Given the description of an element on the screen output the (x, y) to click on. 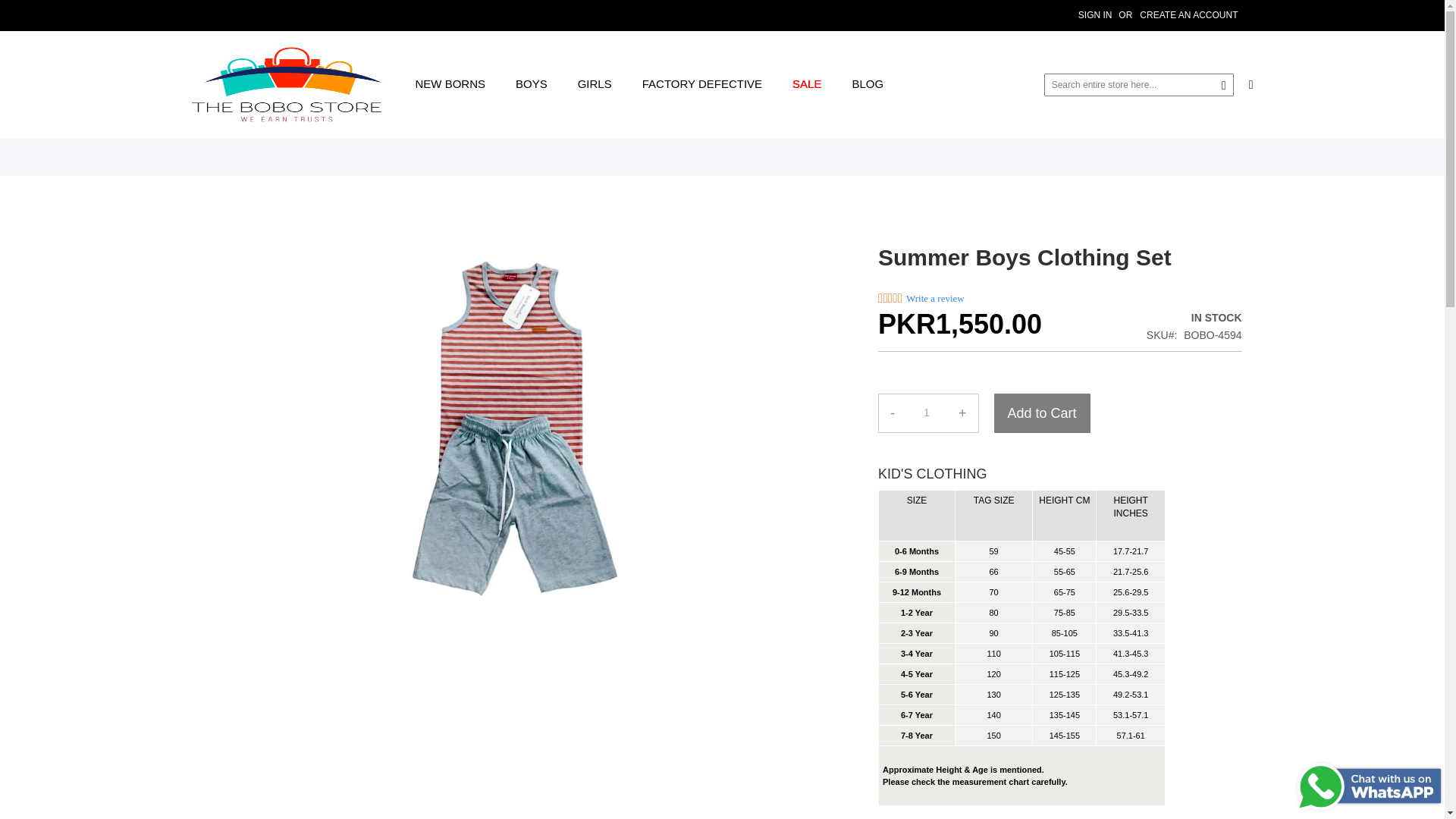
Availability (1194, 318)
The Bobo Store (285, 84)
SIGN IN (1095, 15)
CREATE AN ACCOUNT (1188, 15)
1 (926, 412)
BOYS (531, 84)
NEW BORNS (450, 84)
Qty (926, 412)
Add to Cart (1042, 413)
